Given the description of an element on the screen output the (x, y) to click on. 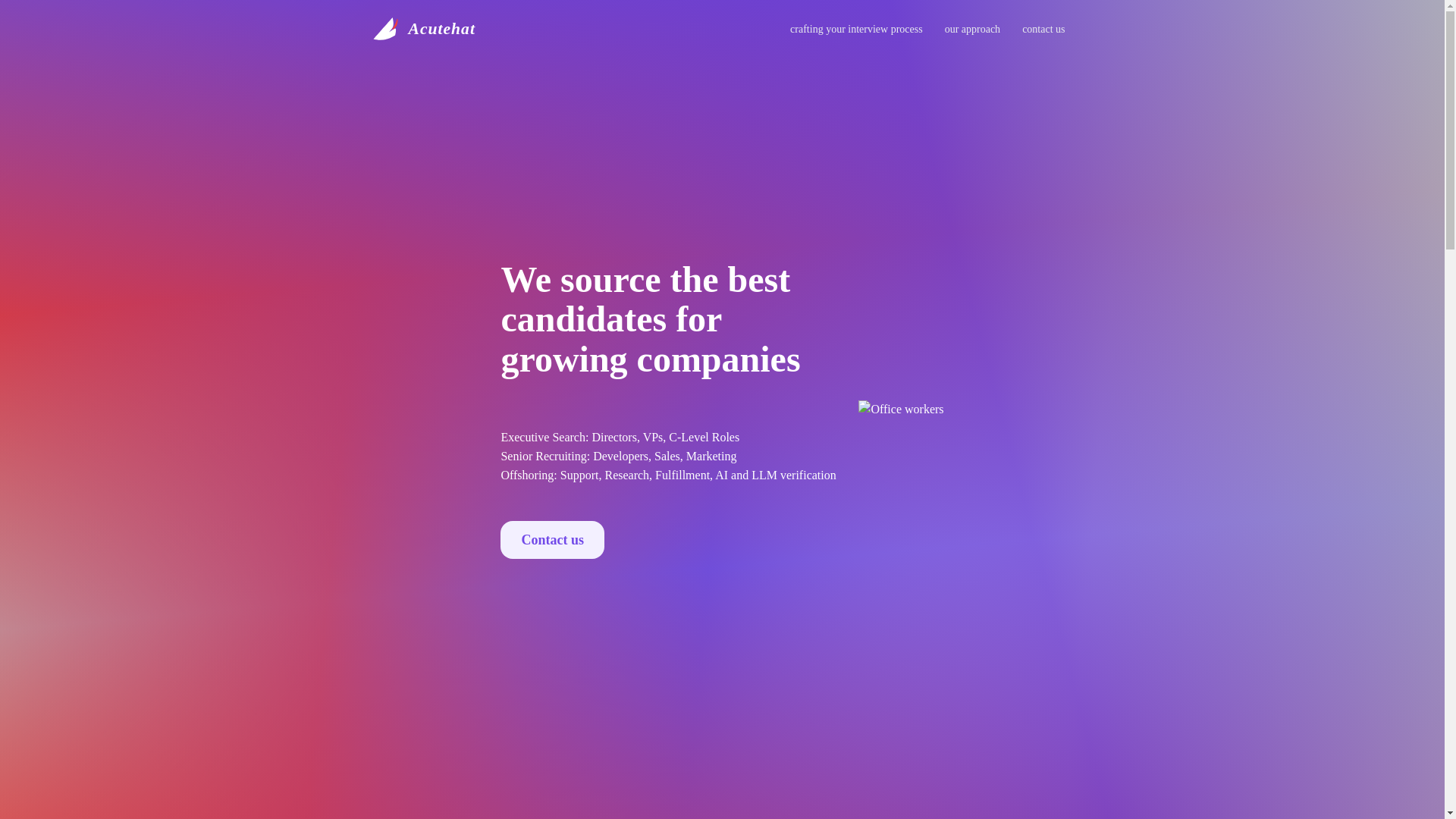
Acutehat (421, 29)
our approach (972, 29)
contact us (1043, 29)
Contact us (552, 539)
crafting your interview process (855, 29)
